Given the description of an element on the screen output the (x, y) to click on. 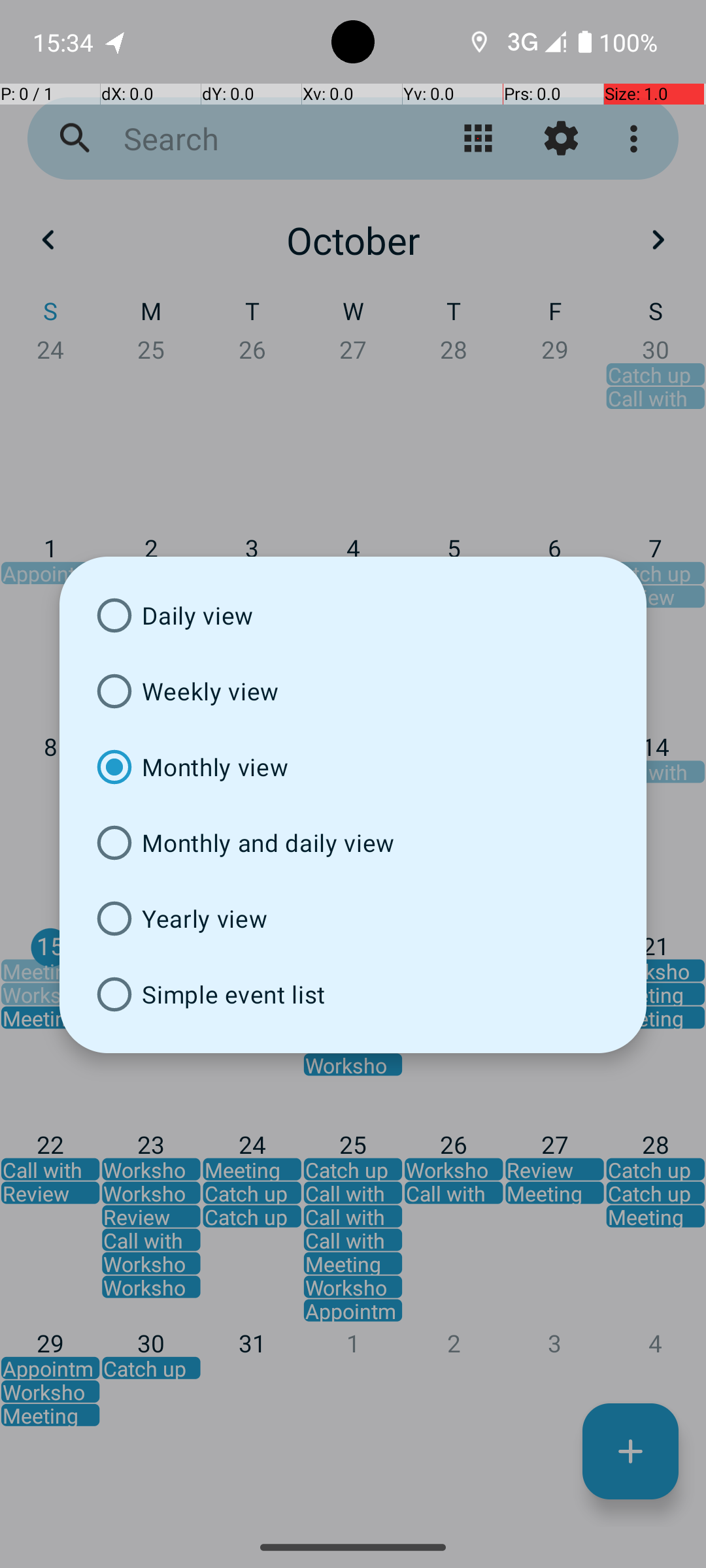
Daily view Element type: android.widget.RadioButton (352, 615)
Weekly view Element type: android.widget.RadioButton (352, 691)
Monthly view Element type: android.widget.RadioButton (352, 766)
Monthly and daily view Element type: android.widget.RadioButton (352, 842)
Yearly view Element type: android.widget.RadioButton (352, 918)
Simple event list Element type: android.widget.RadioButton (352, 994)
